Given the description of an element on the screen output the (x, y) to click on. 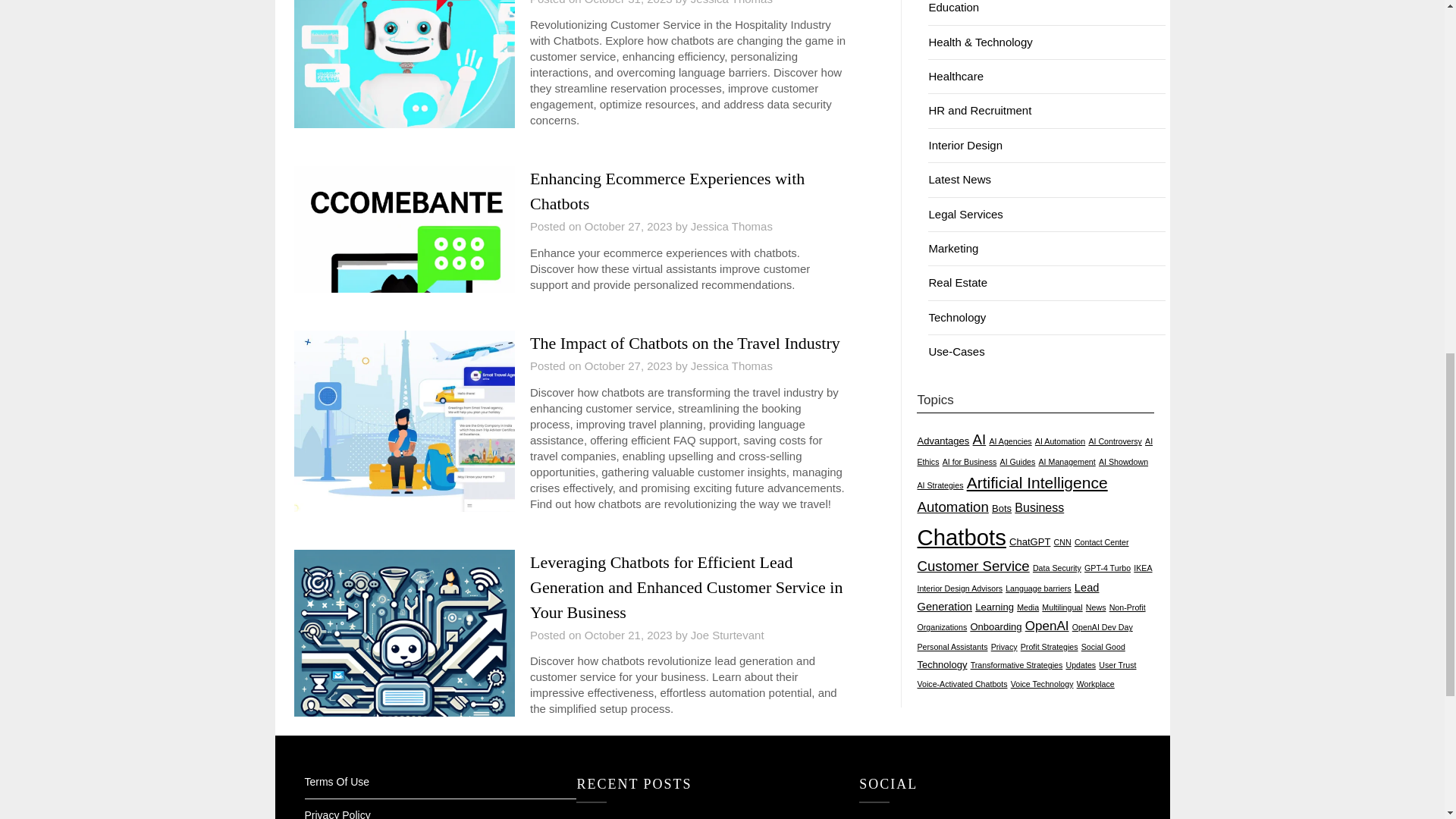
Jessica Thomas (731, 2)
Jessica Thomas (731, 365)
Enhancing Ecommerce Experiences with Chatbots (667, 190)
October 31, 2023 (628, 2)
October 21, 2023 (628, 634)
Jessica Thomas (731, 226)
Joe Sturtevant (727, 634)
The Impact of Chatbots on the Travel Industry (684, 342)
October 27, 2023 (628, 365)
October 27, 2023 (628, 226)
